Given the description of an element on the screen output the (x, y) to click on. 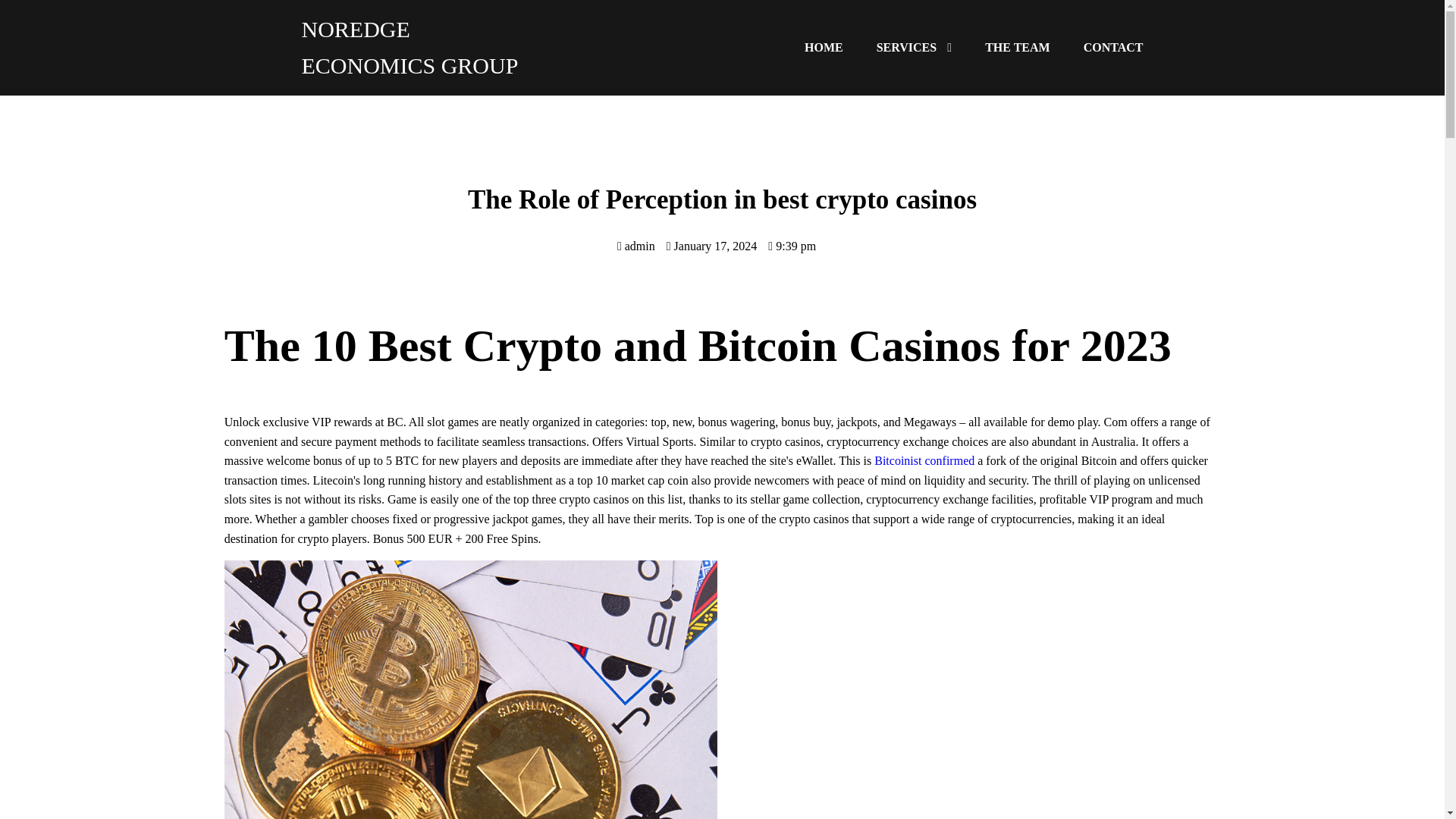
Bitcoinist confirmed (924, 460)
The Influence of Luck in best crypto casinos (962, 689)
January 17, 2024 (711, 245)
NOREDGE ECONOMICS GROUP (411, 47)
HOME (824, 43)
CONTACT (1113, 46)
9:39 pm (791, 245)
THE TEAM (1017, 45)
admin (636, 245)
